Given the description of an element on the screen output the (x, y) to click on. 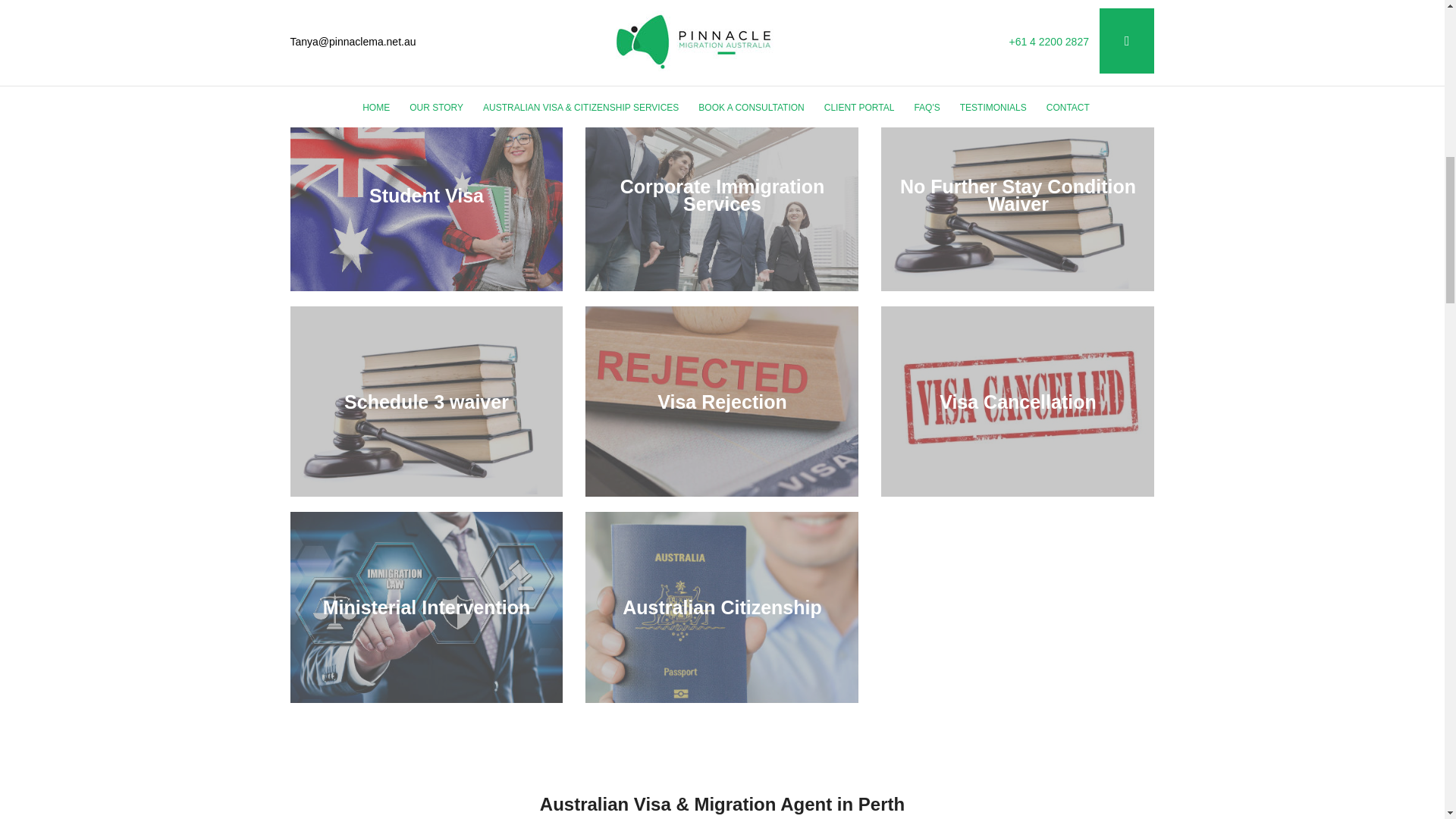
Visa Rejection (722, 400)
Australian Citizenship (722, 607)
Ministerial Intervention (427, 607)
Corporate Immigration Services (722, 195)
Student Visa (426, 195)
Schedule 3 waiver (425, 400)
Visa Cancellation (1017, 400)
No Further Stay Condition Waiver (1017, 195)
